Given the description of an element on the screen output the (x, y) to click on. 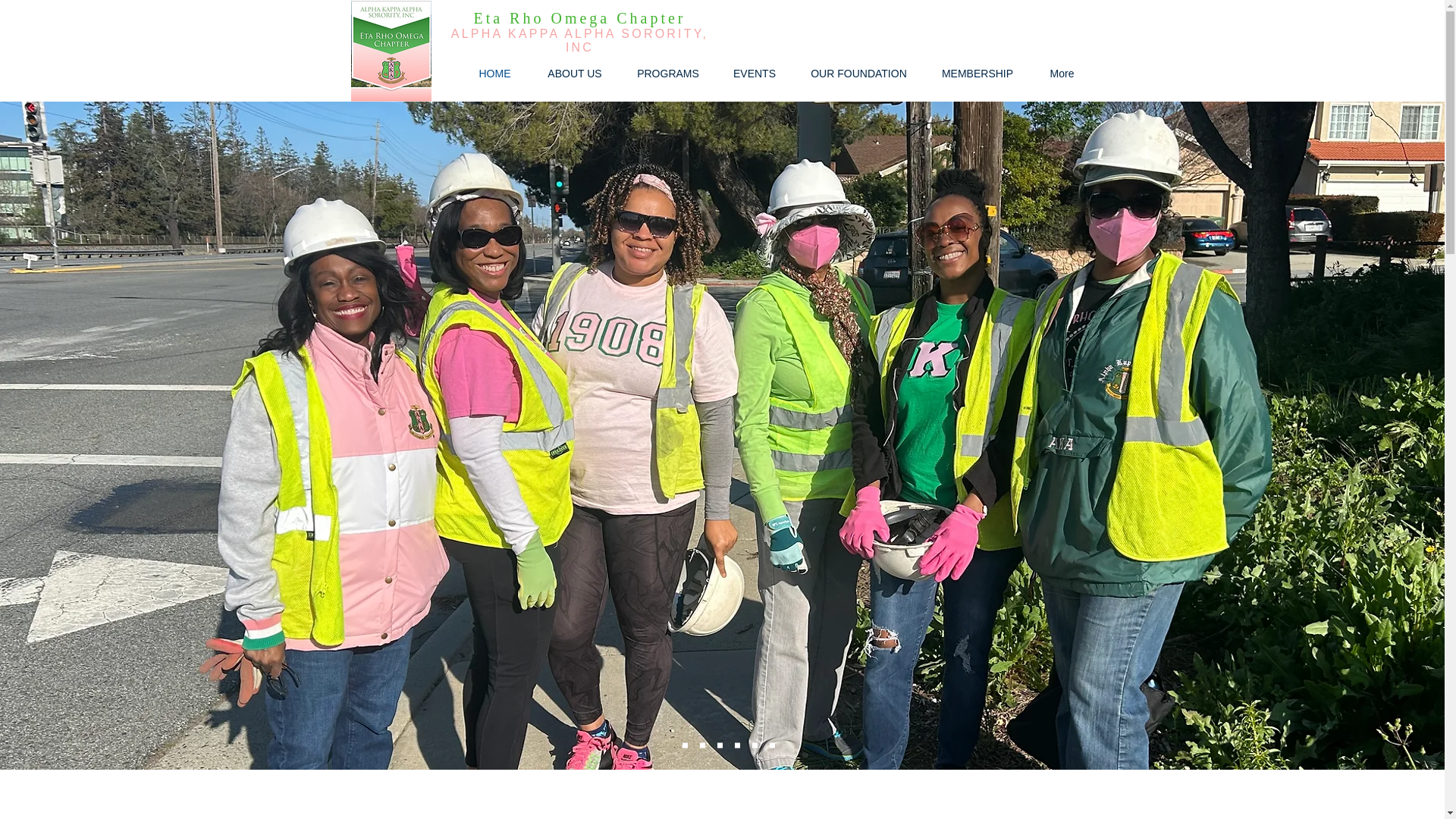
PROGRAMS (668, 73)
OUR FOUNDATION (858, 73)
EVENTS (754, 73)
MEMBERSHIP (977, 73)
HOME (494, 73)
Eta Rho Omega Chapter (579, 17)
ABOUT US (574, 73)
